Given the description of an element on the screen output the (x, y) to click on. 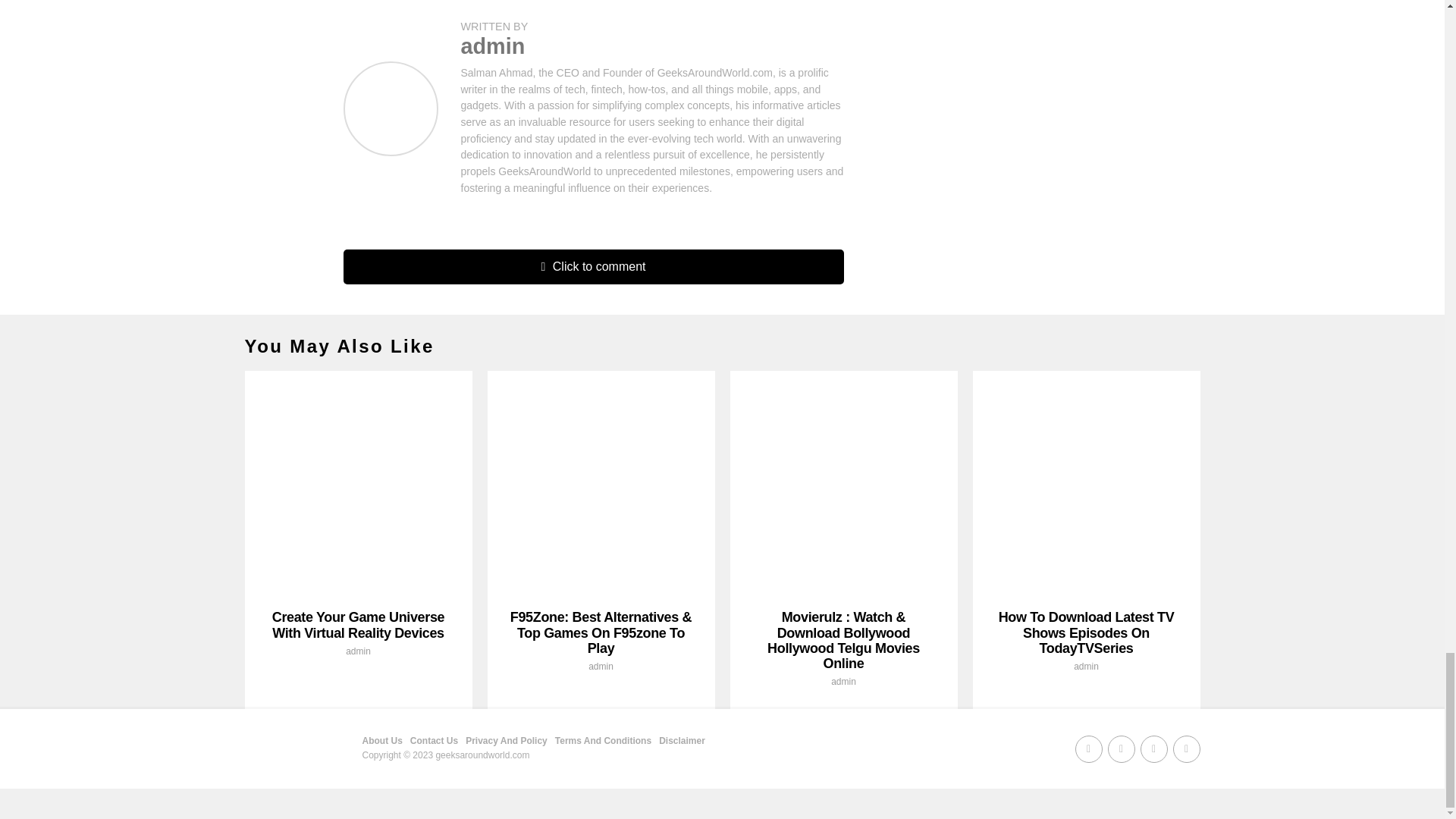
Posts by admin (493, 46)
Posts by admin (1086, 665)
Posts by admin (600, 665)
Posts by admin (843, 681)
Posts by admin (358, 651)
